Given the description of an element on the screen output the (x, y) to click on. 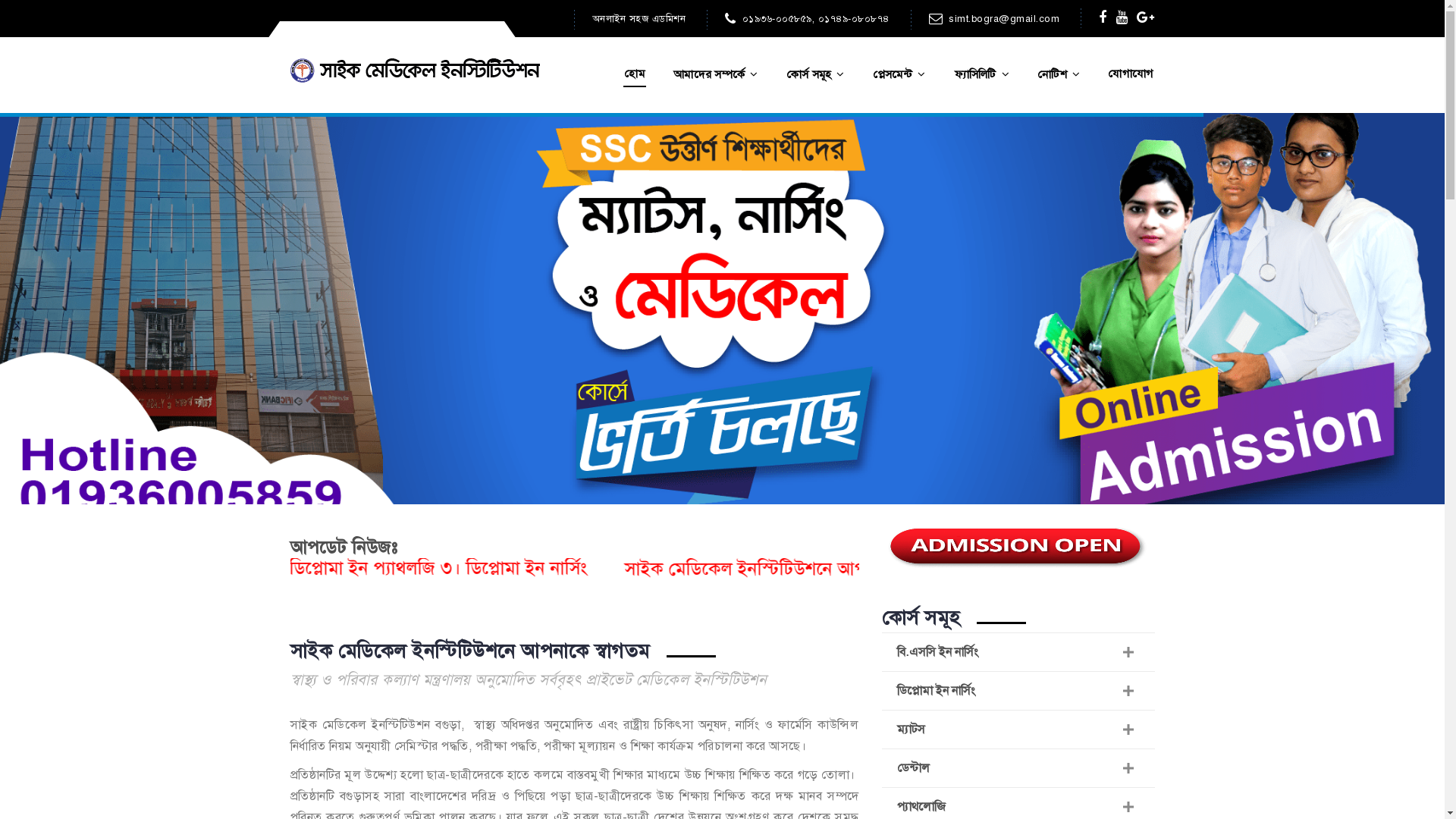
Google+ Element type: hover (1145, 17)
Best Medical Institution in Bogura Element type: hover (414, 70)
Facebook Element type: hover (1102, 17)
YouTube Element type: hover (1122, 17)
simt.bogra@gmail.com Element type: text (993, 18)
